Given the description of an element on the screen output the (x, y) to click on. 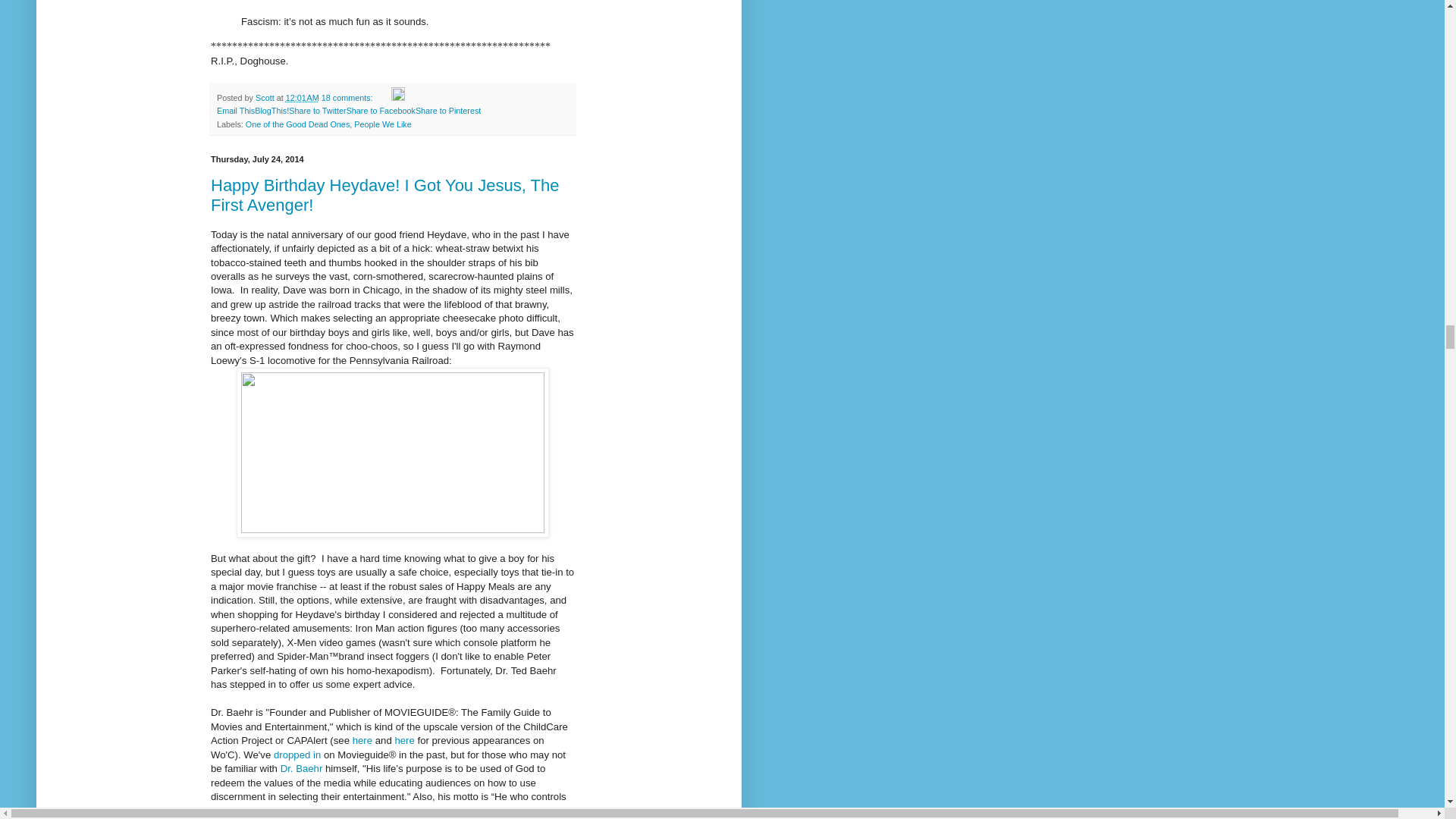
Scott (266, 97)
